Given the description of an element on the screen output the (x, y) to click on. 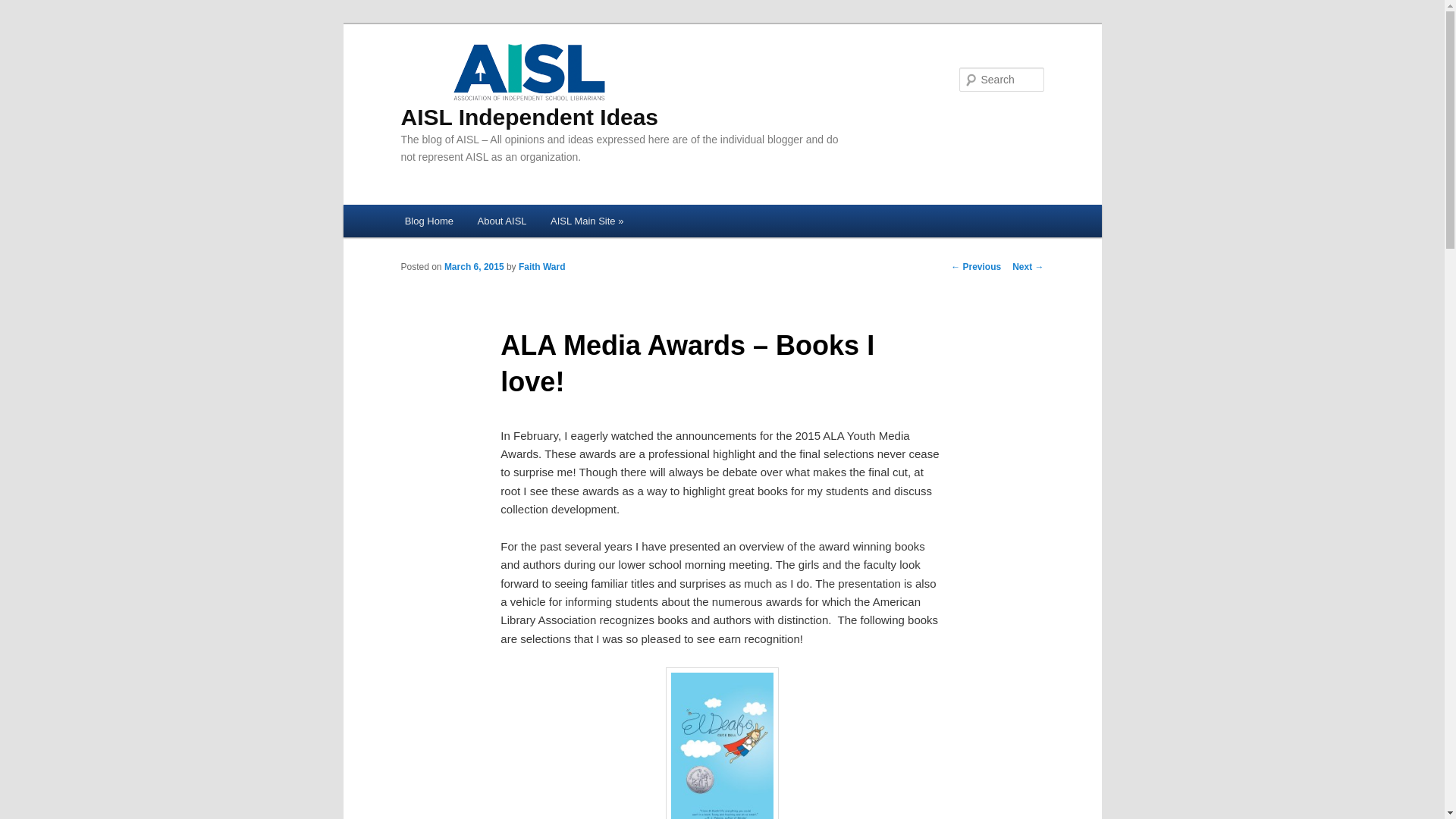
Faith Ward (542, 266)
View all posts by Faith Ward (542, 266)
March 6, 2015 (473, 266)
Search (24, 8)
4:57 pm (473, 266)
AISL Independent Ideas (529, 84)
Blog Home (429, 220)
About AISL (501, 220)
